Given the description of an element on the screen output the (x, y) to click on. 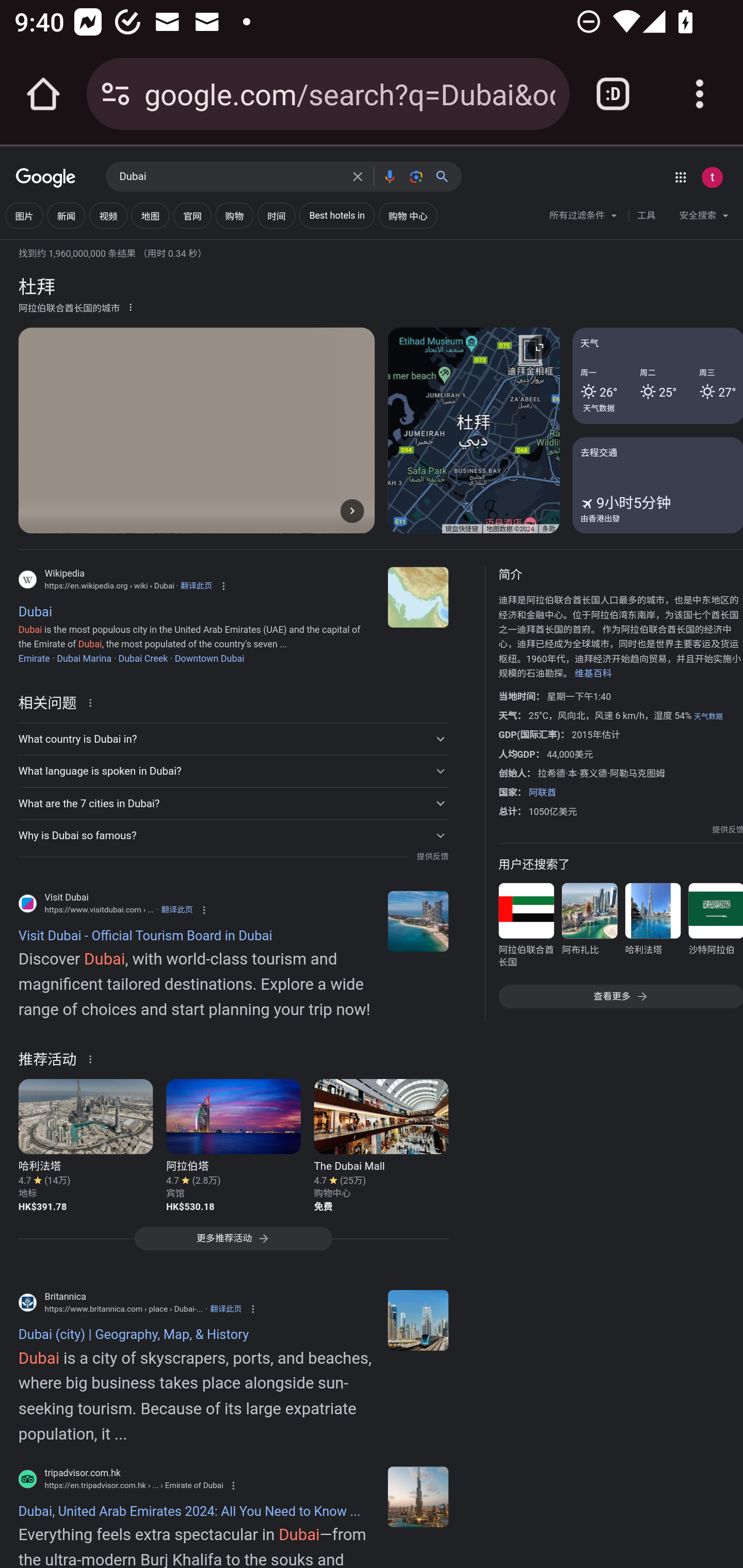
Open the home page (43, 93)
Connection is secure (115, 93)
Switch or close tabs (612, 93)
Customize and control Google Chrome (699, 93)
清除 (357, 176)
按语音搜索 (389, 176)
按图搜索 (415, 176)
搜索 (446, 176)
Google 应用 (680, 176)
Google 账号： test appium (testappium002@gmail.com) (712, 176)
Google (45, 178)
Dubai (229, 177)
图片 (24, 215)
新闻 (65, 215)
视频 (107, 215)
地图 (149, 215)
添加“官网” 官网 (191, 215)
购物 (234, 215)
添加“时间” 时间 (276, 215)
添加“Best hotels in” Best hotels in (337, 215)
添加“购物 中心” 购物 中心 (407, 215)
所有过滤条件 (583, 217)
工具 (646, 215)
安全搜索 (703, 217)
更多选项 (130, 306)
天气 周一 高温 26 度 周二 高温 25 度 周三 高温 27 度 (657, 375)
展开地图 (539, 346)
天气数据 (599, 407)
去程交通 9小时5分钟 乘坐飞机 由香港出發 (657, 484)
下一张图片 (352, 510)
Dubai (417, 597)
翻译此页 (195, 585)
Emirate (33, 658)
Dubai Marina (84, 658)
Dubai Creek (142, 658)
Downtown Dubai (208, 658)
维基百科 (593, 672)
关于这条结果的详细信息 (93, 701)
天气数据 (708, 716)
What country is Dubai in? (232, 738)
What language is spoken in Dubai? (232, 770)
阿联酋 (541, 792)
What are the 7 cities in Dubai? (232, 803)
Why is Dubai so famous? (232, 835)
提供反馈 (727, 829)
提供反馈 (432, 856)
阿拉伯联合酋长国 (526, 927)
阿布扎比 (588, 927)
哈利法塔 (652, 927)
沙特阿拉伯 (715, 927)
en (417, 920)
翻译此页 (176, 909)
查看更多 查看更多 查看更多 (620, 996)
关于这条结果的详细信息 (93, 1058)
更多推荐活动 (232, 1243)
Dubai-United-Arab-Emirates (417, 1319)
翻译此页 (225, 1309)
Tourism-g295424-Dubai_Emirate_of_Dubai-Vacations (417, 1496)
